Given the description of an element on the screen output the (x, y) to click on. 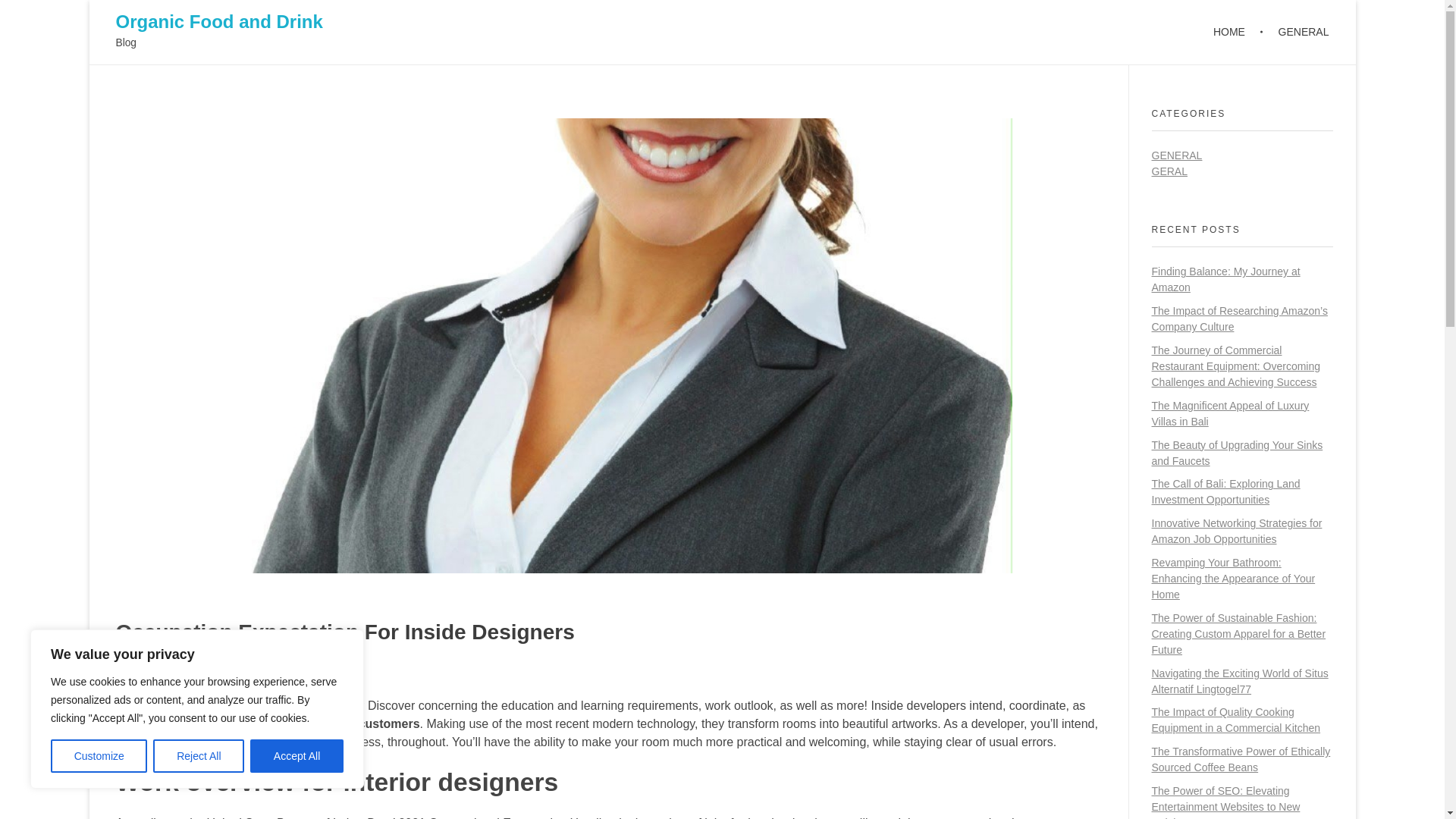
GENERAL (1295, 32)
The Magnificent Appeal of Luxury Villas in Bali (1229, 413)
View all posts in General (276, 672)
General (276, 672)
Accept All (296, 756)
GENERAL (1176, 155)
The Call of Bali: Exploring Land Investment Opportunities (1225, 491)
comfy environment (254, 723)
